Given the description of an element on the screen output the (x, y) to click on. 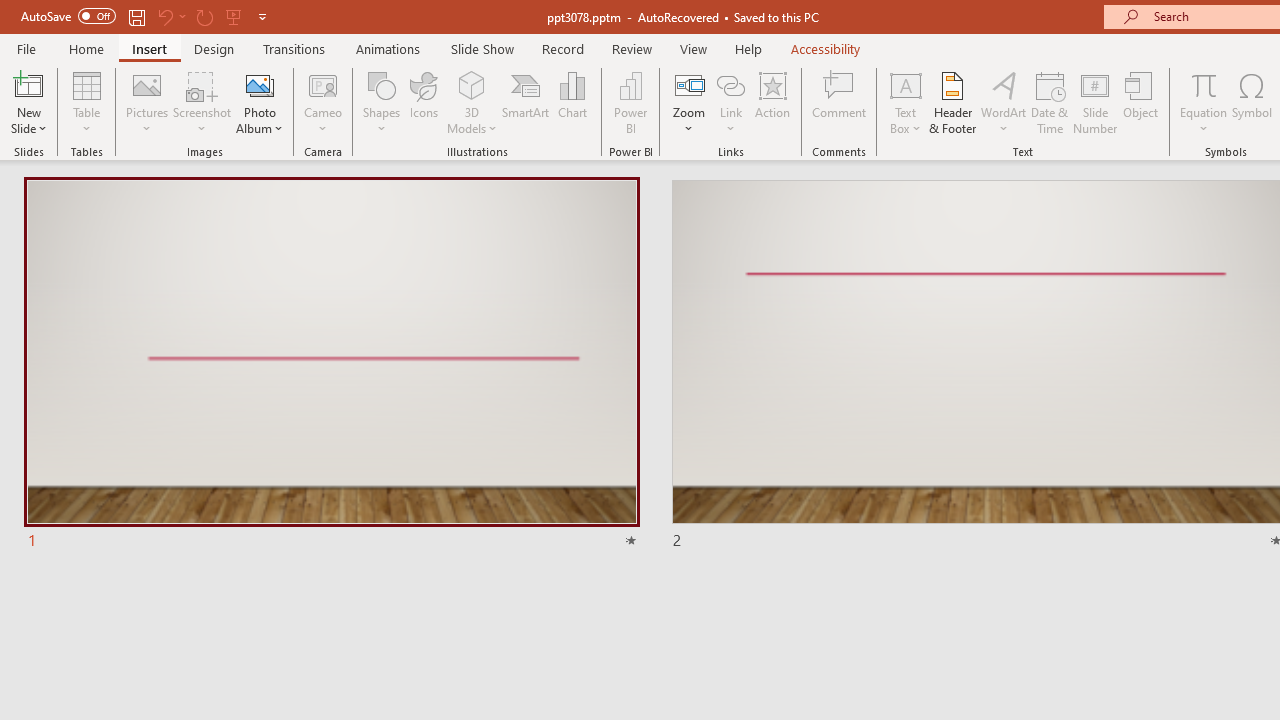
Shapes (381, 102)
Photo Album... (259, 102)
Review (631, 48)
3D Models (472, 102)
Customize Quick Access Toolbar (262, 15)
Comment (839, 102)
Equation (1203, 102)
Redo (204, 15)
SmartArt... (525, 102)
Cameo (323, 102)
AutoSave (68, 16)
